Given the description of an element on the screen output the (x, y) to click on. 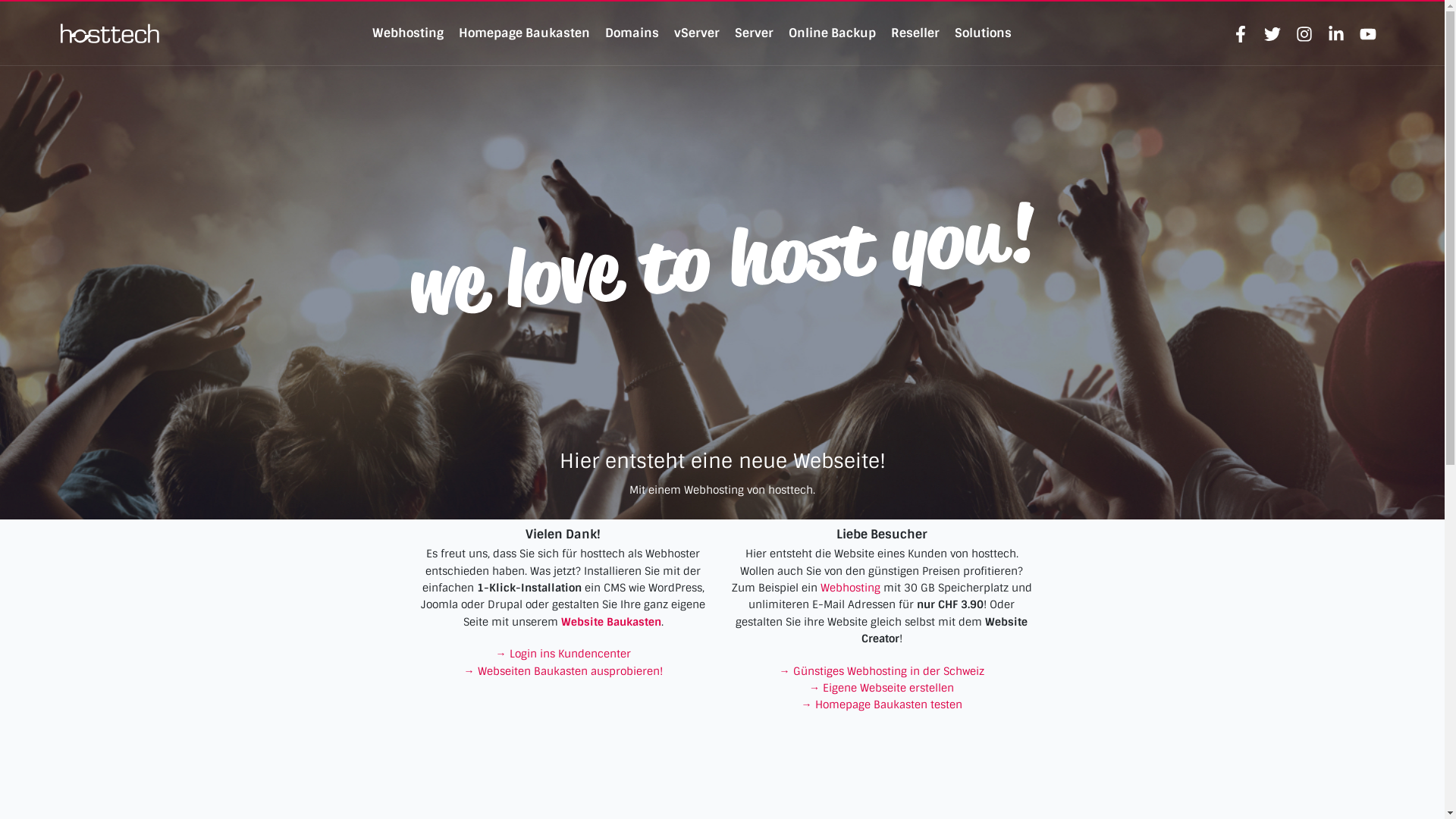
vServer Element type: text (696, 32)
Solutions Element type: text (982, 32)
Domains Element type: text (631, 32)
Reseller Element type: text (915, 32)
Server Element type: text (753, 32)
Website Baukasten Element type: text (611, 621)
Webhosting Element type: text (407, 32)
Online Backup Element type: text (831, 32)
Homepage Baukasten Element type: text (523, 32)
Webhosting Element type: text (850, 587)
